Given the description of an element on the screen output the (x, y) to click on. 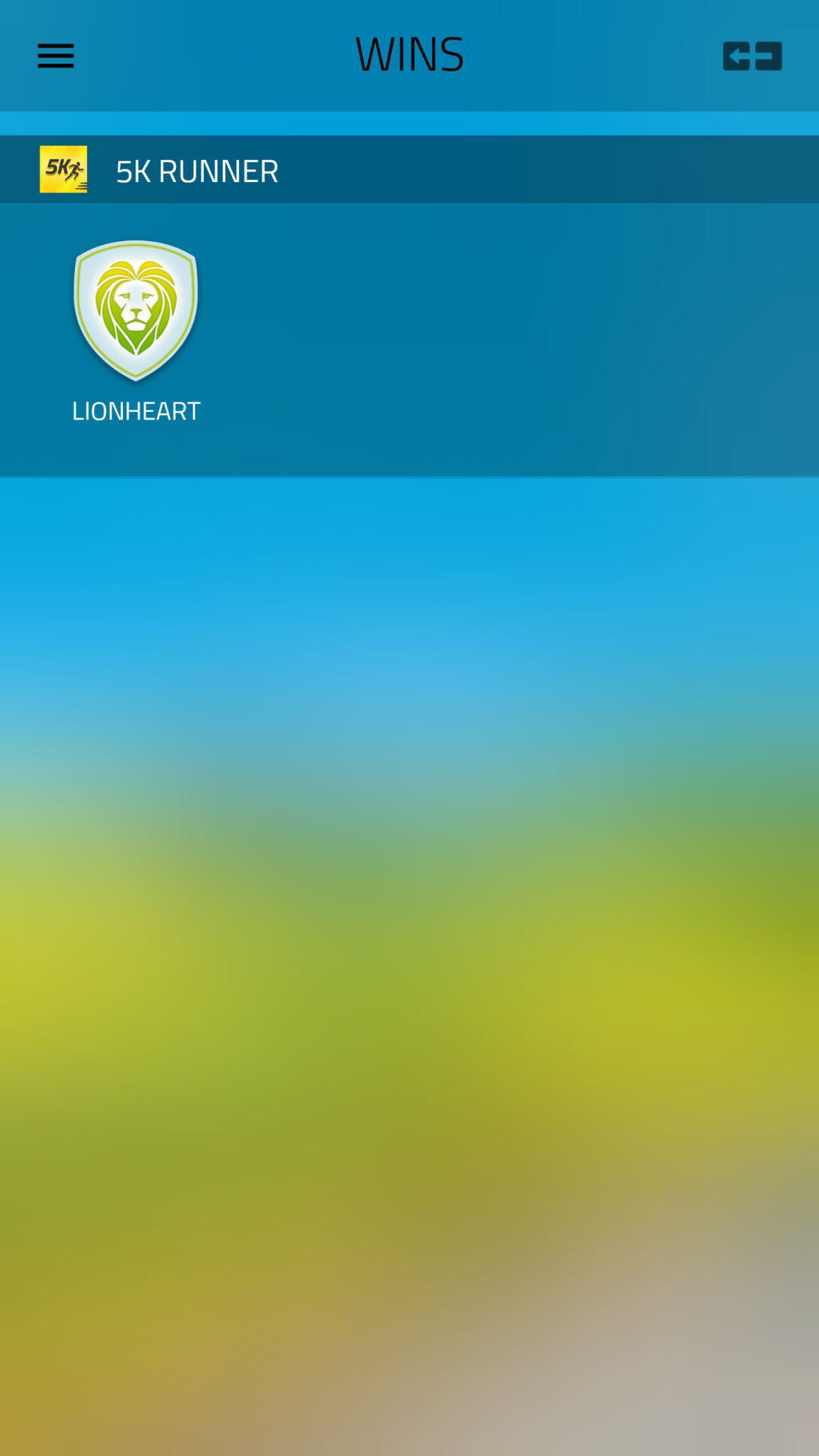
turn off item next to 5k runner icon (63, 169)
